Given the description of an element on the screen output the (x, y) to click on. 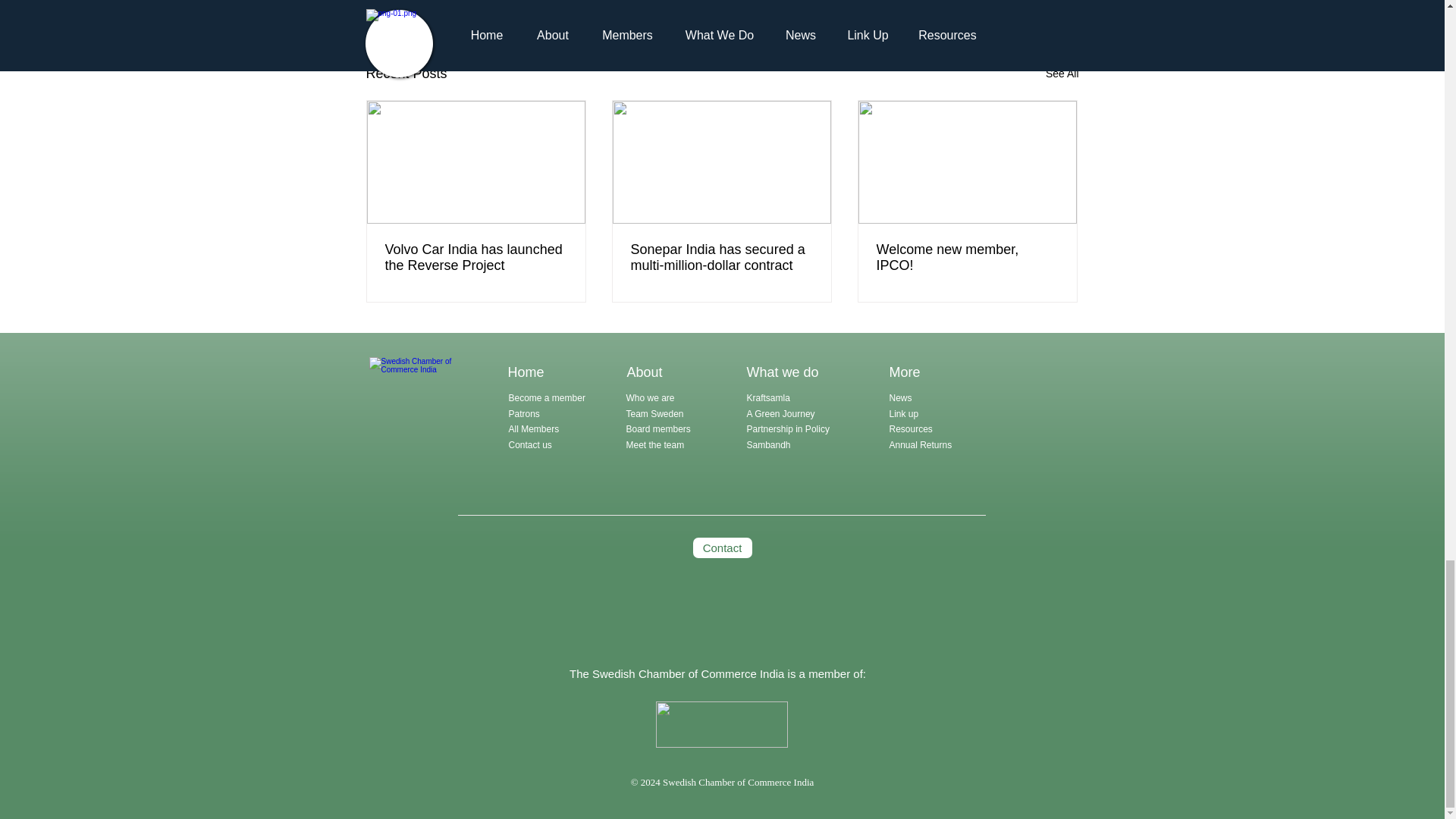
Volvo Car India has launched the Reverse Project (476, 257)
Welcome new member, IPCO! (967, 257)
Team Sweden (655, 413)
All Members  (534, 429)
Home (526, 372)
About (644, 372)
A Green Journey  (780, 413)
Meet the team (655, 444)
Who we are (650, 398)
Board members (658, 429)
